Given the description of an element on the screen output the (x, y) to click on. 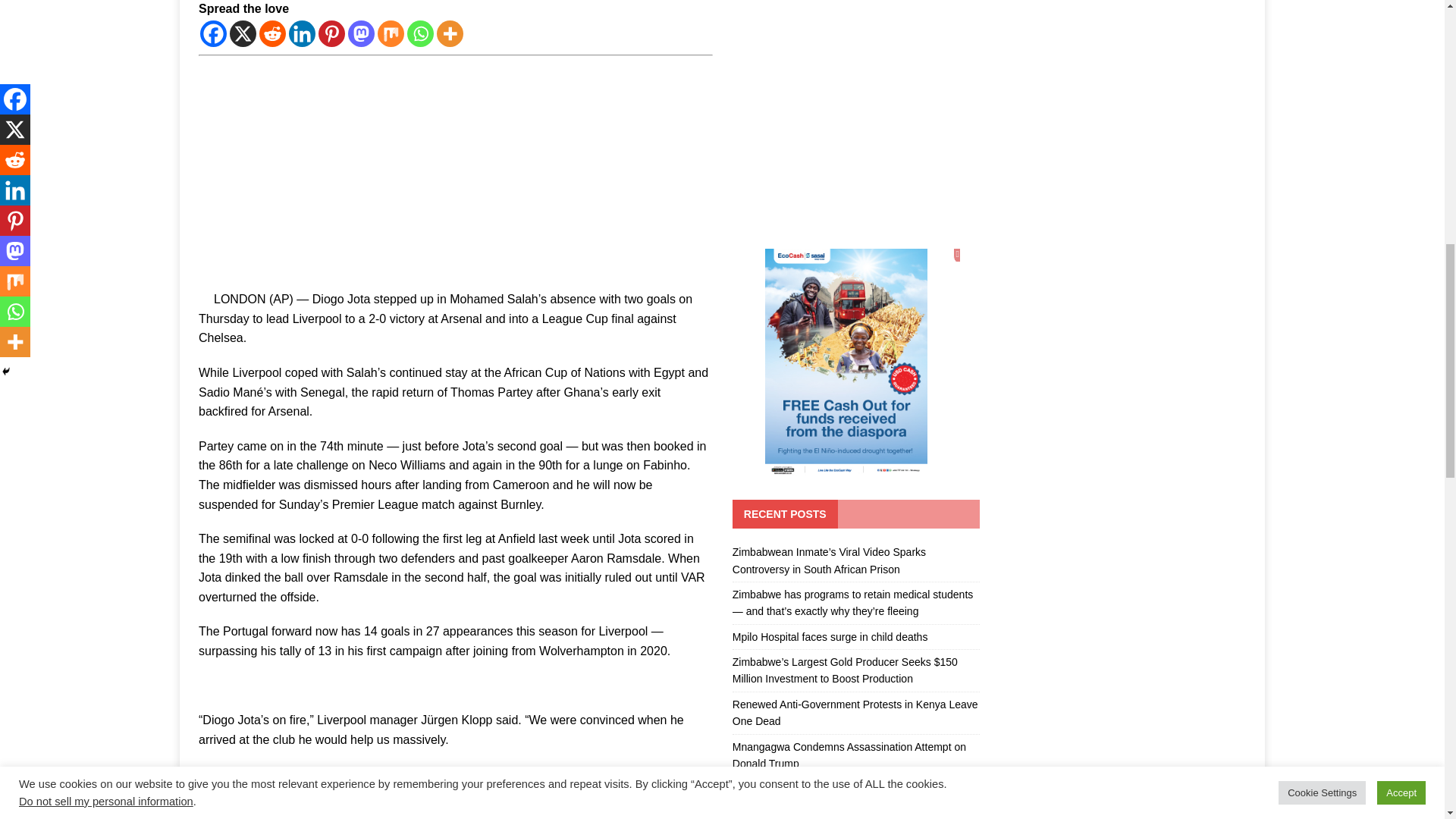
Facebook (213, 33)
Whatsapp (420, 33)
Mix (390, 33)
More (449, 33)
Linkedin (301, 33)
Reddit (272, 33)
Pinterest (331, 33)
Advertisement (455, 168)
Mastodon (360, 33)
X (243, 33)
